Given the description of an element on the screen output the (x, y) to click on. 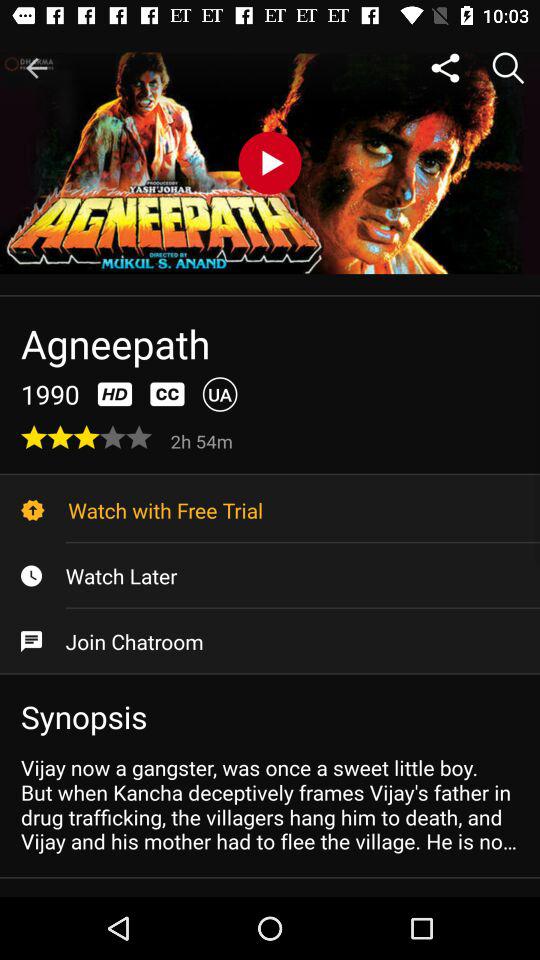
click icon above the watch later (270, 510)
